Given the description of an element on the screen output the (x, y) to click on. 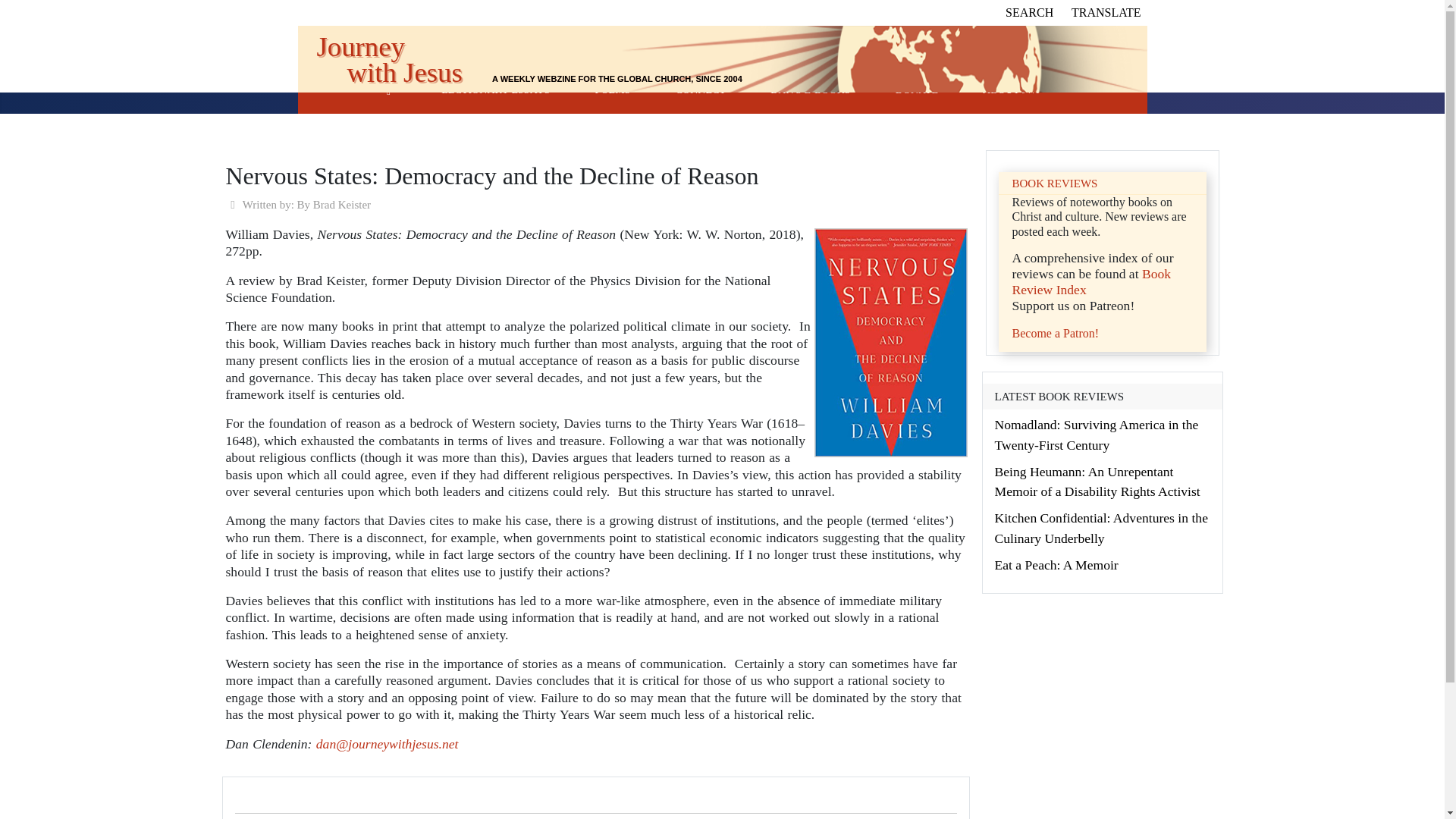
HOME (388, 89)
Nomadland: Surviving America in the Twenty-First Century (1096, 434)
Become a Patron! (1055, 332)
Eat a Peach: A Memoir (1056, 564)
TRANSLATE (1106, 11)
ABOUT JWJ (1011, 89)
DAN'S E-BOOKS (810, 89)
DONATE (916, 89)
POEMS (612, 89)
LECTIONARY ESSAYS (495, 89)
Kitchen Confidential: Adventures in the Culinary Underbelly (1101, 527)
CONNECT (700, 89)
Book Review Index (1090, 281)
SEARCH (1029, 11)
